Given the description of an element on the screen output the (x, y) to click on. 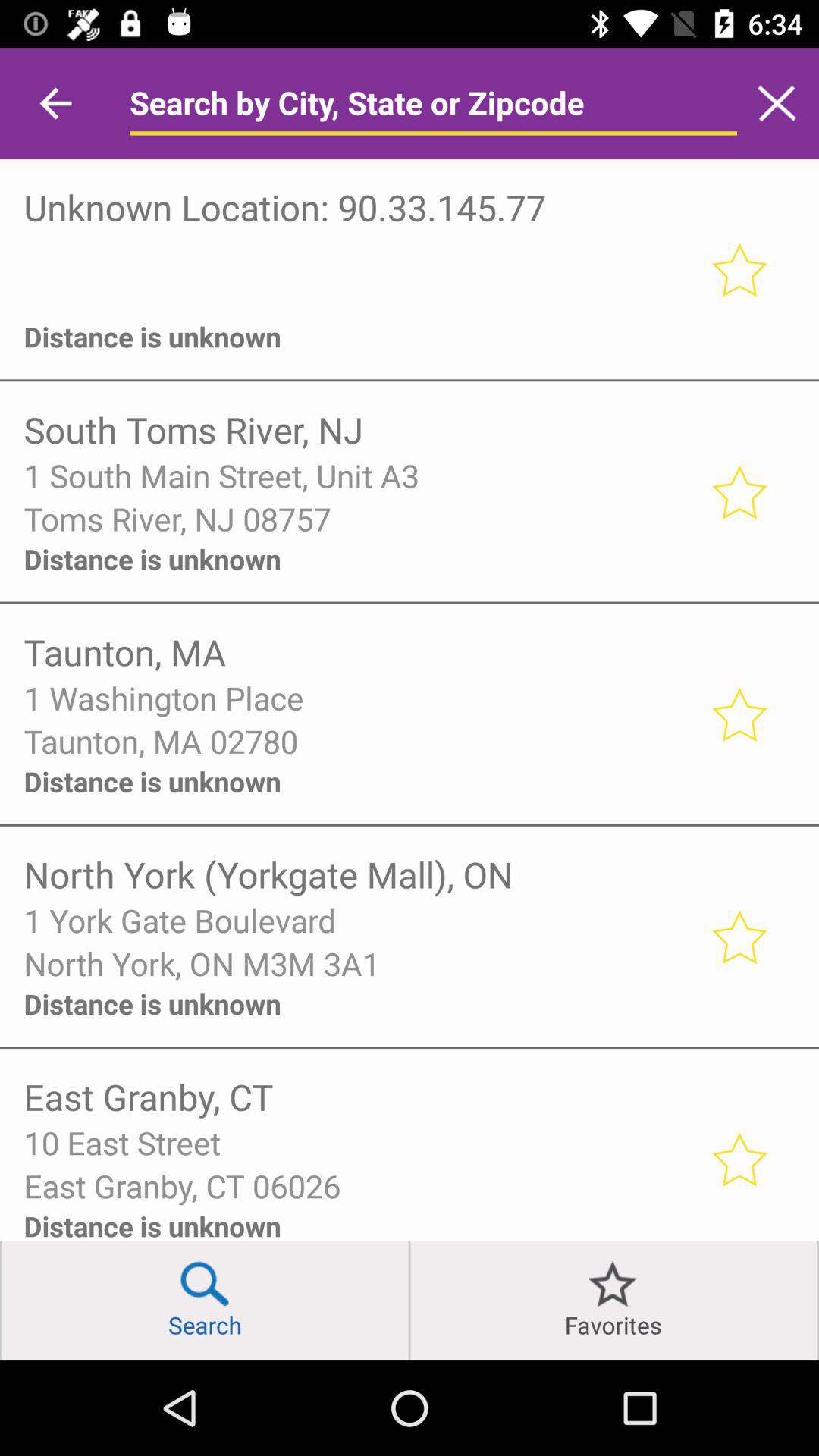
turn on icon above the distance is unknown (356, 295)
